Given the description of an element on the screen output the (x, y) to click on. 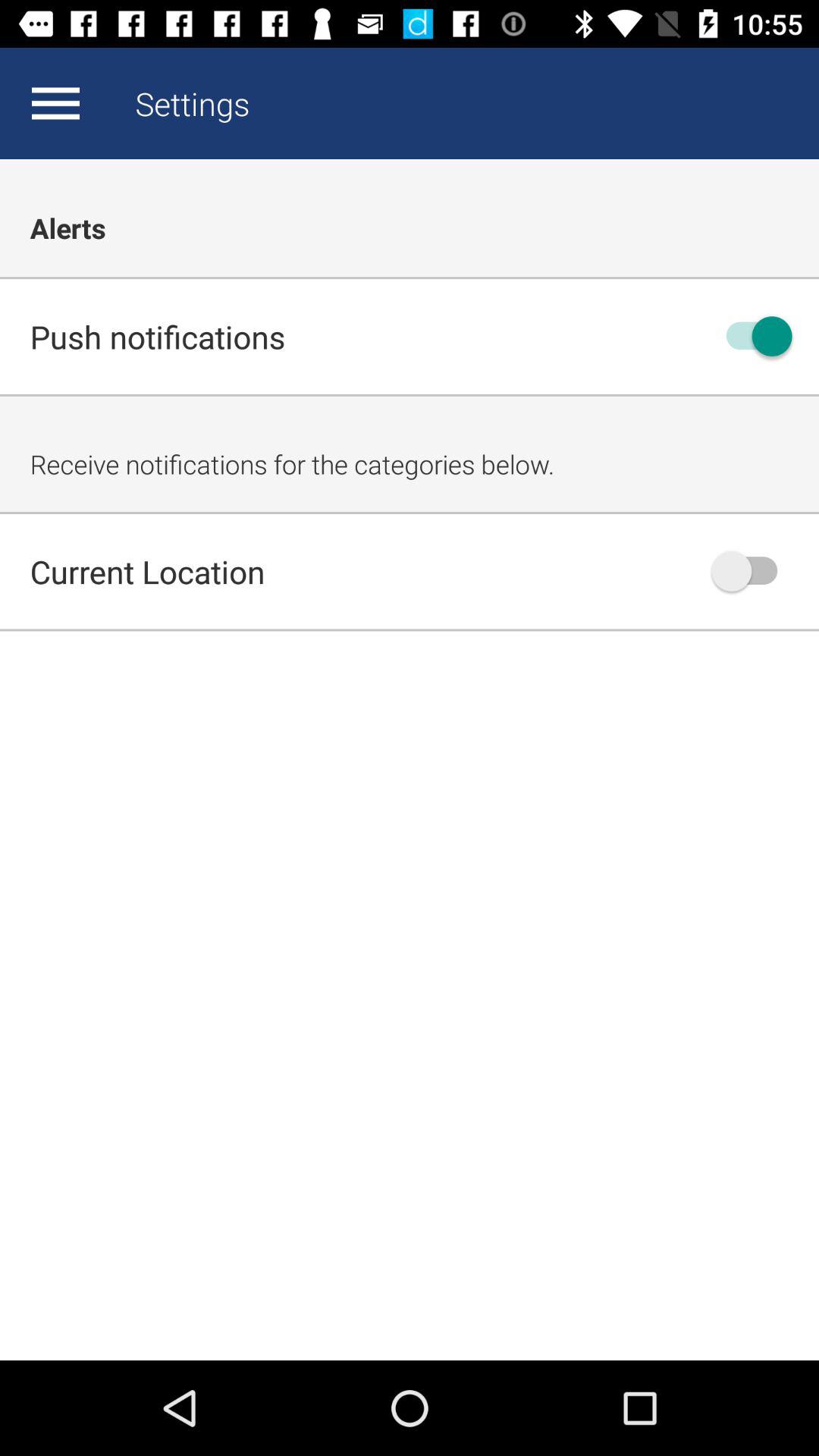
settings (55, 103)
